Given the description of an element on the screen output the (x, y) to click on. 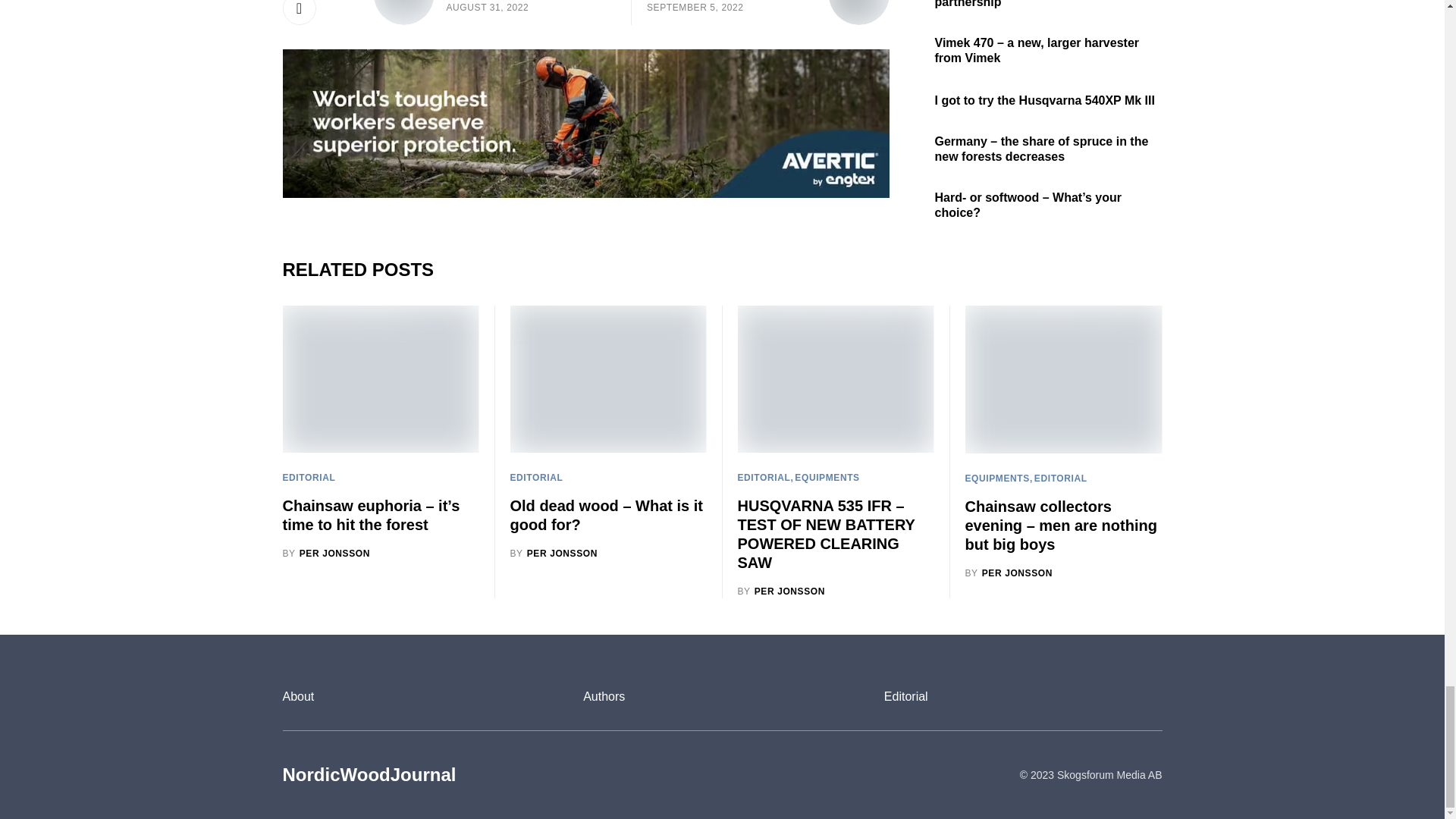
View all posts by Per Jonsson (552, 553)
View all posts by Per Jonsson (780, 591)
View all posts by Per Jonsson (1007, 572)
View all posts by Per Jonsson (325, 553)
